Given the description of an element on the screen output the (x, y) to click on. 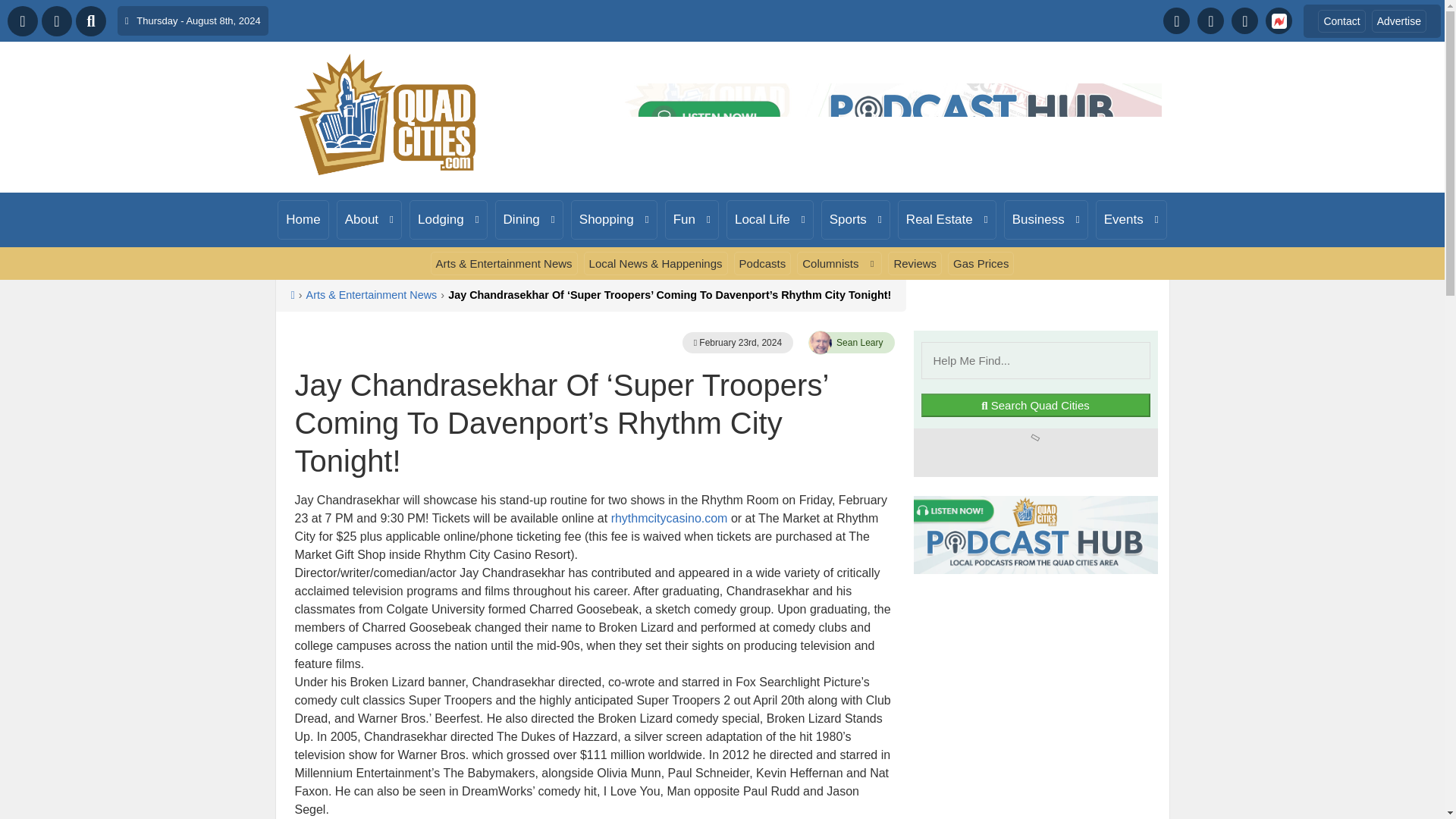
X-twitter (1210, 20)
Find us on NewsBreak App! (1278, 20)
About (368, 219)
Facebook (1176, 20)
Advertise (1398, 20)
Dining (529, 219)
QuadCities.com (384, 114)
Home (303, 219)
Contact (1341, 20)
Lodging (448, 219)
